Given the description of an element on the screen output the (x, y) to click on. 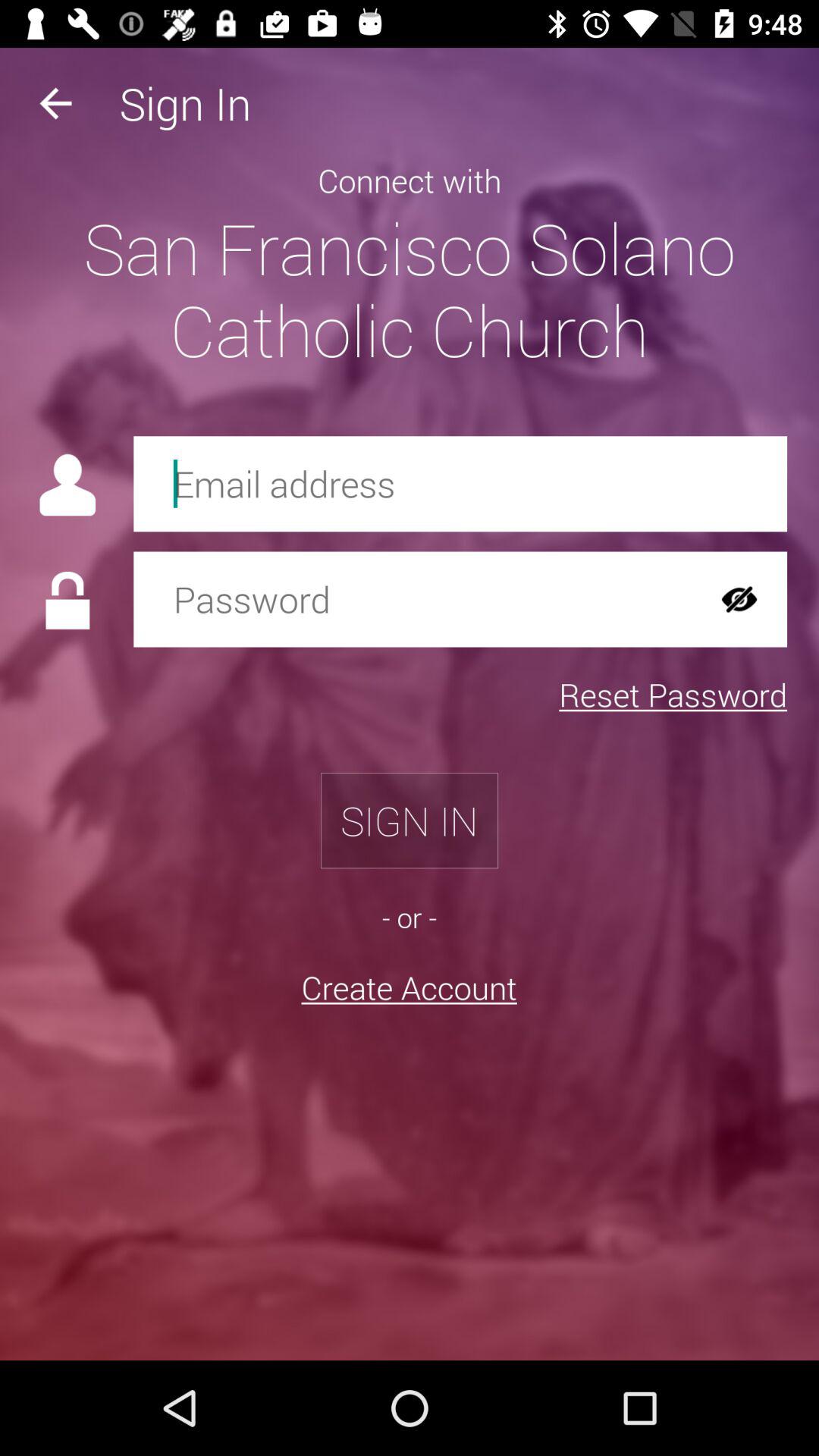
tis feild is used to enter your email address (460, 483)
